Given the description of an element on the screen output the (x, y) to click on. 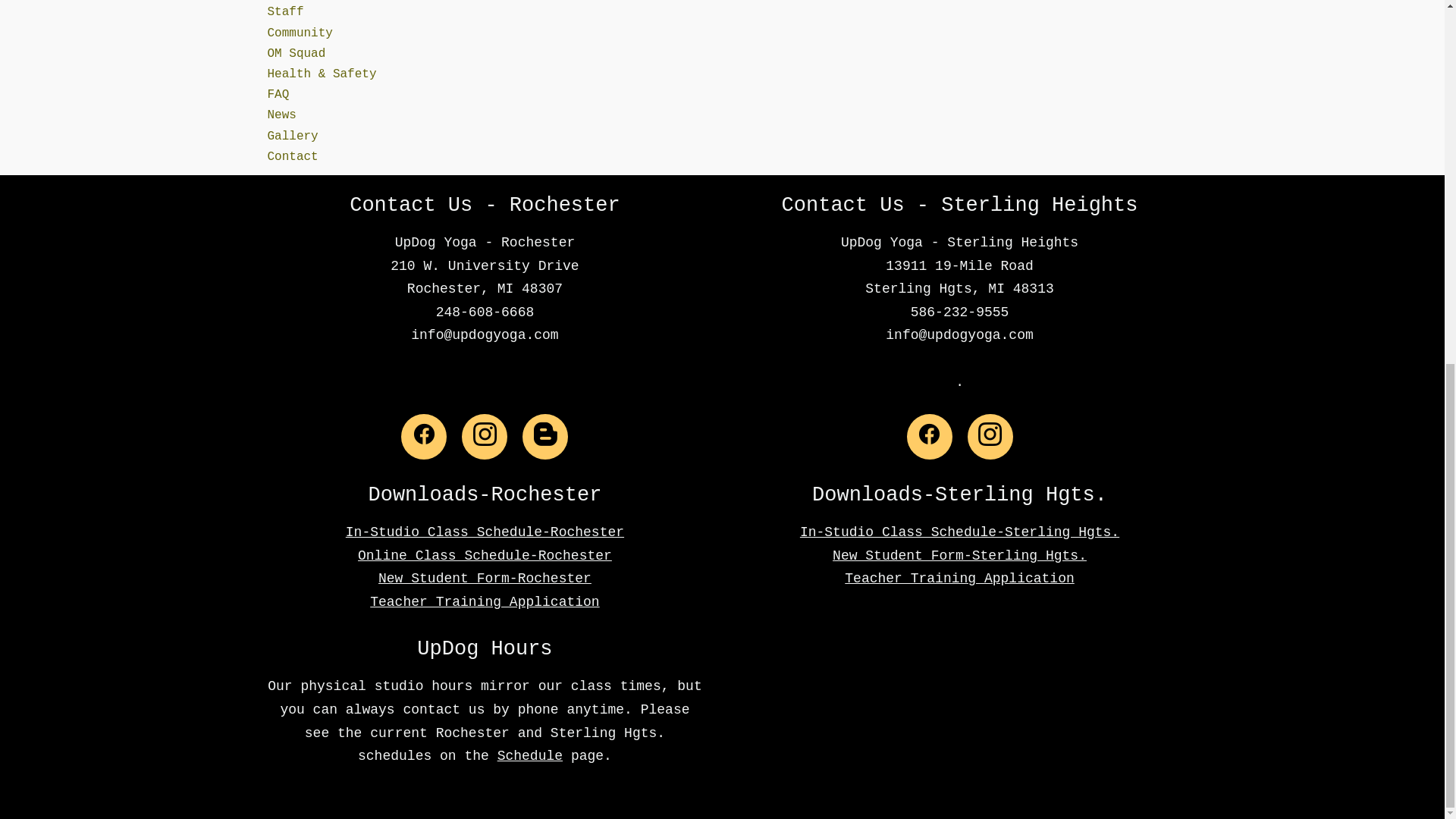
Staff (284, 11)
